Given the description of an element on the screen output the (x, y) to click on. 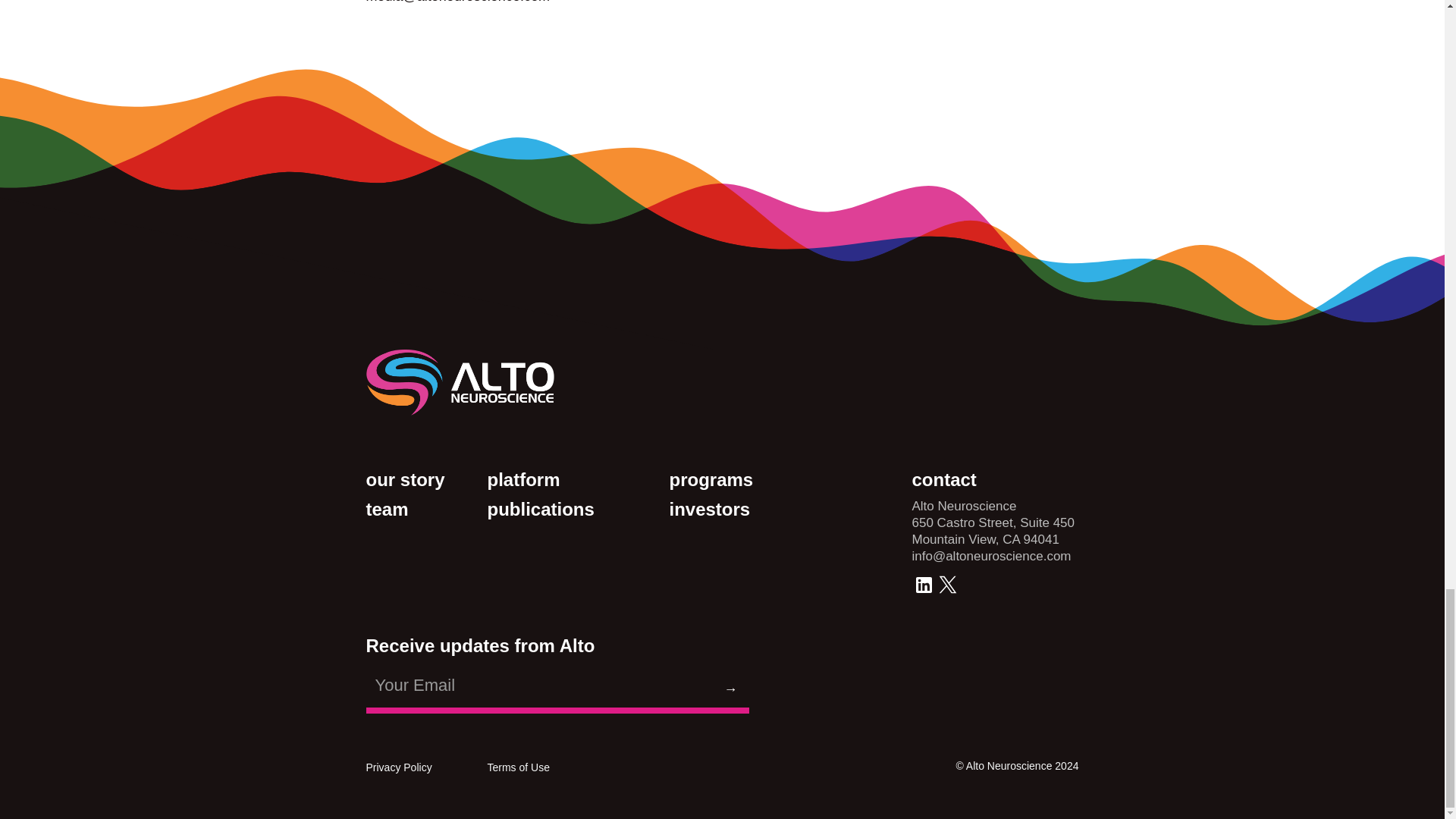
our story (418, 479)
team (418, 508)
